Given the description of an element on the screen output the (x, y) to click on. 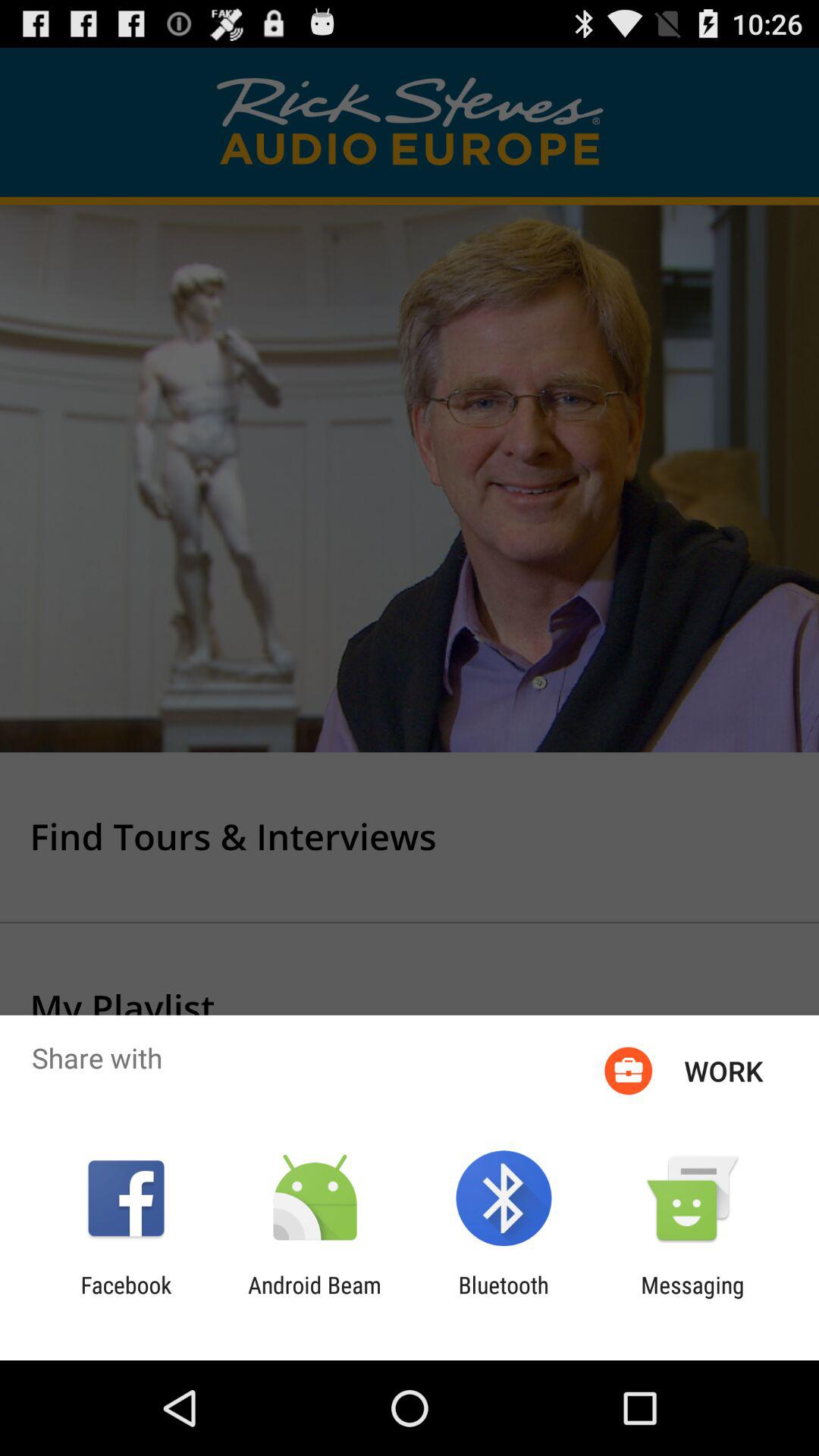
jump to messaging (692, 1298)
